Given the description of an element on the screen output the (x, y) to click on. 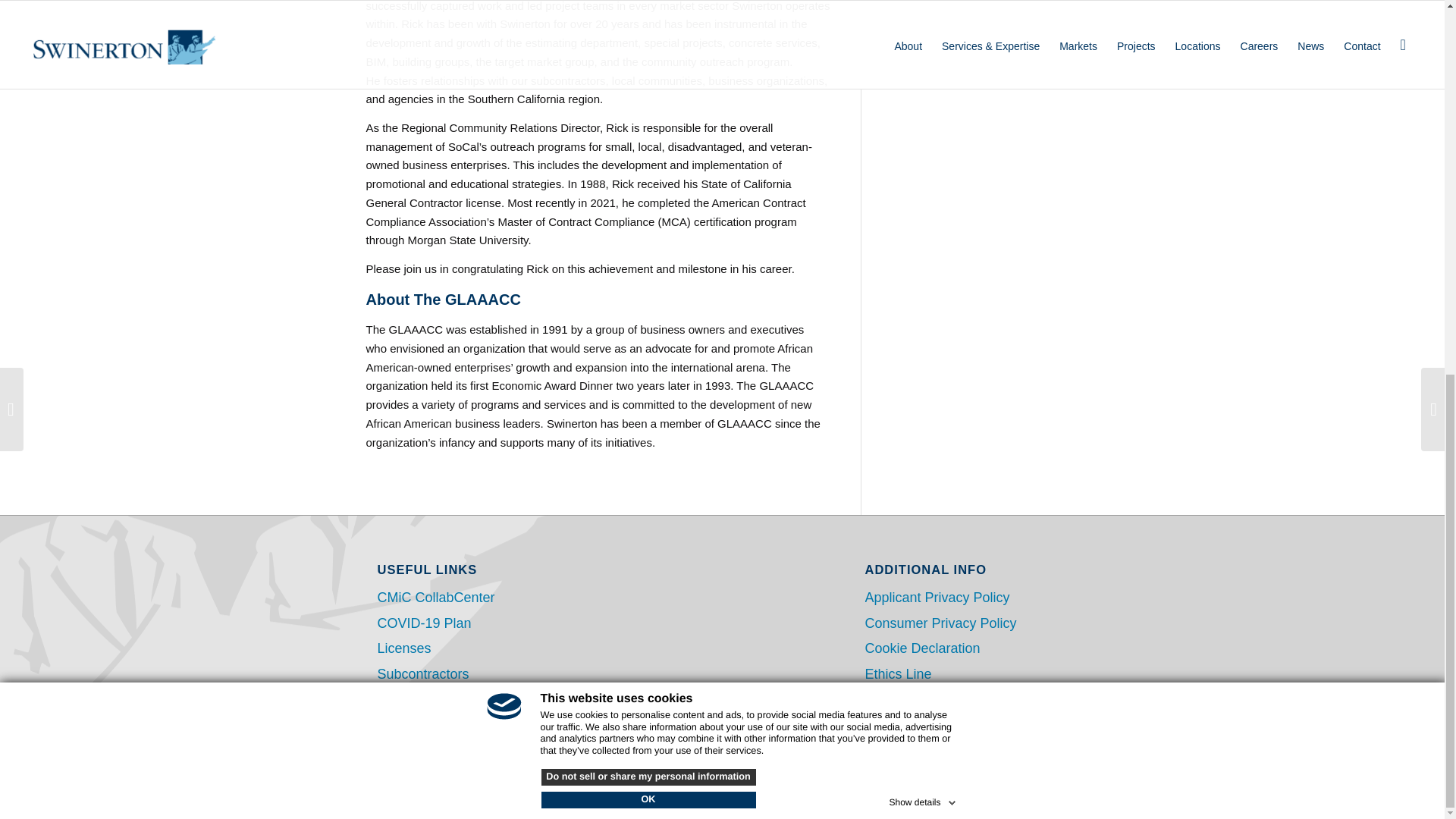
Show details (923, 113)
Do not sell or share my personal information (648, 90)
OK (648, 113)
